Given the description of an element on the screen output the (x, y) to click on. 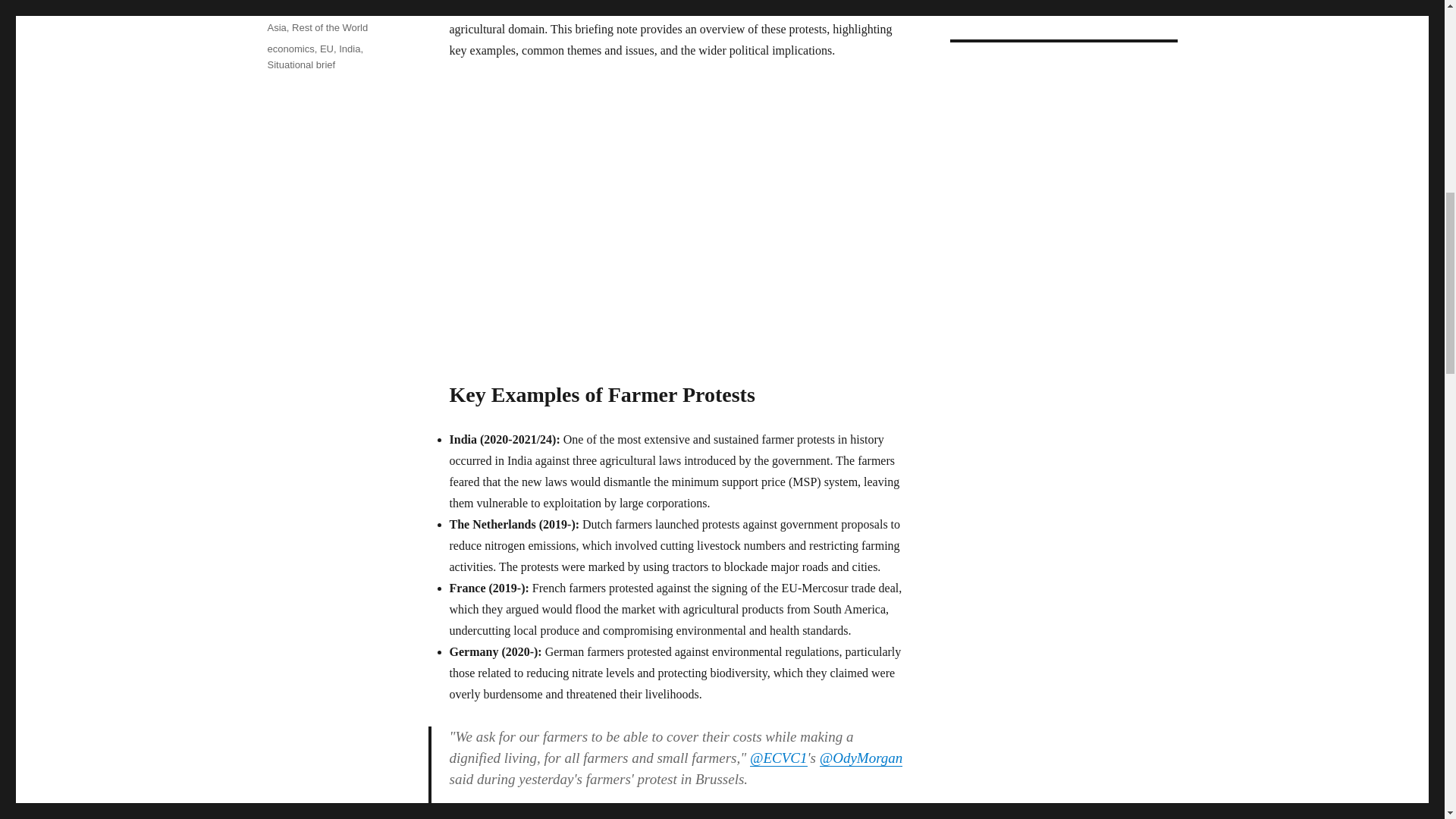
March 7, 2024 (298, 6)
Asia (275, 27)
EU (326, 48)
India (349, 48)
Rest of the World (330, 27)
Situational brief (300, 64)
economics (290, 48)
